Given the description of an element on the screen output the (x, y) to click on. 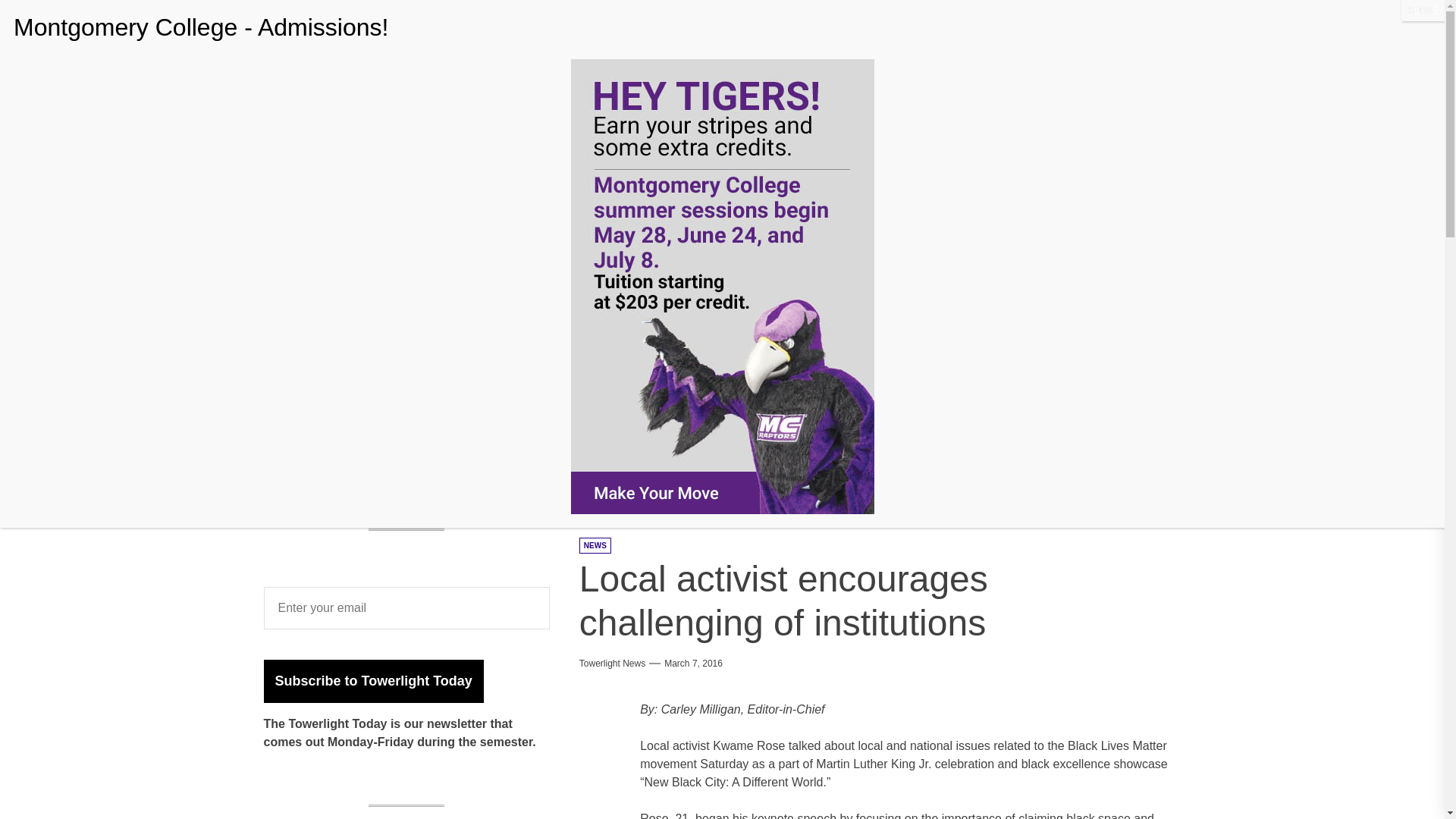
About (507, 131)
Opinion (761, 131)
Sports (699, 131)
News (563, 131)
